Given the description of an element on the screen output the (x, y) to click on. 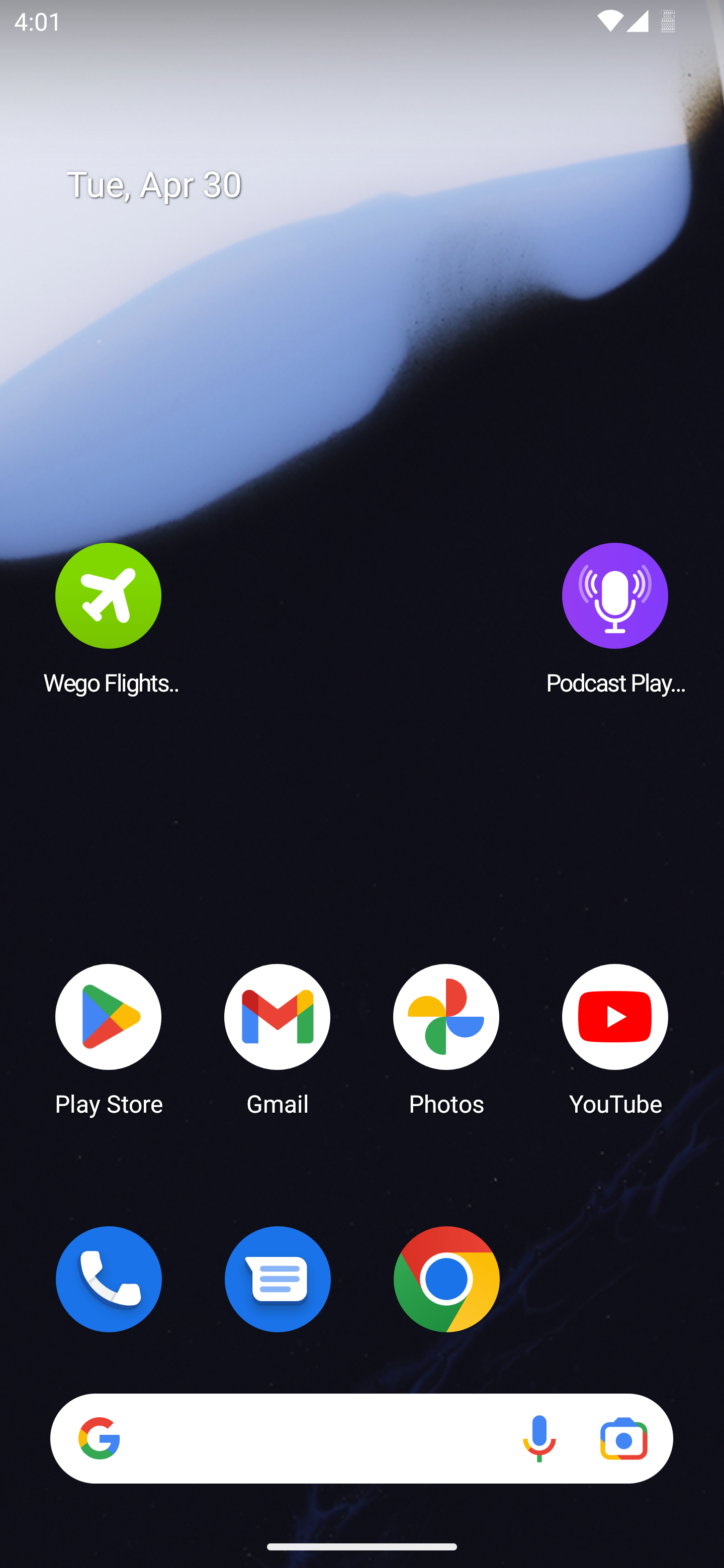
Tue, Apr 30 (375, 184)
Wego Flights & Hotels (108, 617)
Podcast Player (615, 617)
Play Store (108, 1038)
Gmail (277, 1038)
Photos (445, 1038)
YouTube (615, 1038)
Phone (108, 1279)
Messages (277, 1279)
Chrome (446, 1279)
Voice search (539, 1438)
Google Lens (623, 1438)
